Given the description of an element on the screen output the (x, y) to click on. 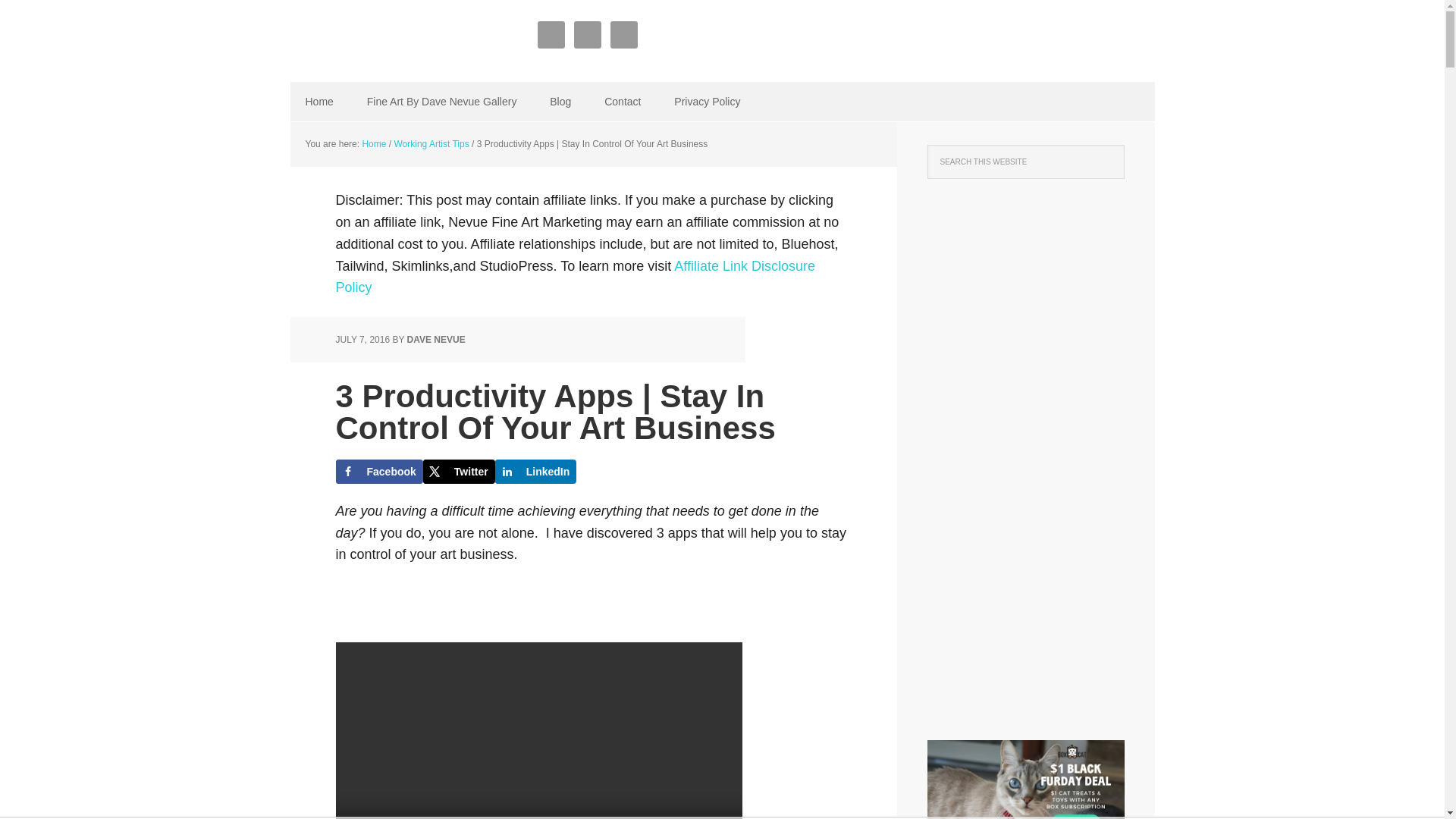
Facebook (378, 471)
Affiliate Link Disclosure Policy (574, 276)
Share on X (459, 471)
Nevue Fine Art Marketing (387, 38)
Home (318, 101)
Home (373, 143)
LinkedIn (535, 471)
Privacy Policy (707, 101)
Twitter (459, 471)
Blog (560, 101)
Share on LinkedIn (535, 471)
Working Artist Tips (431, 143)
